Given the description of an element on the screen output the (x, y) to click on. 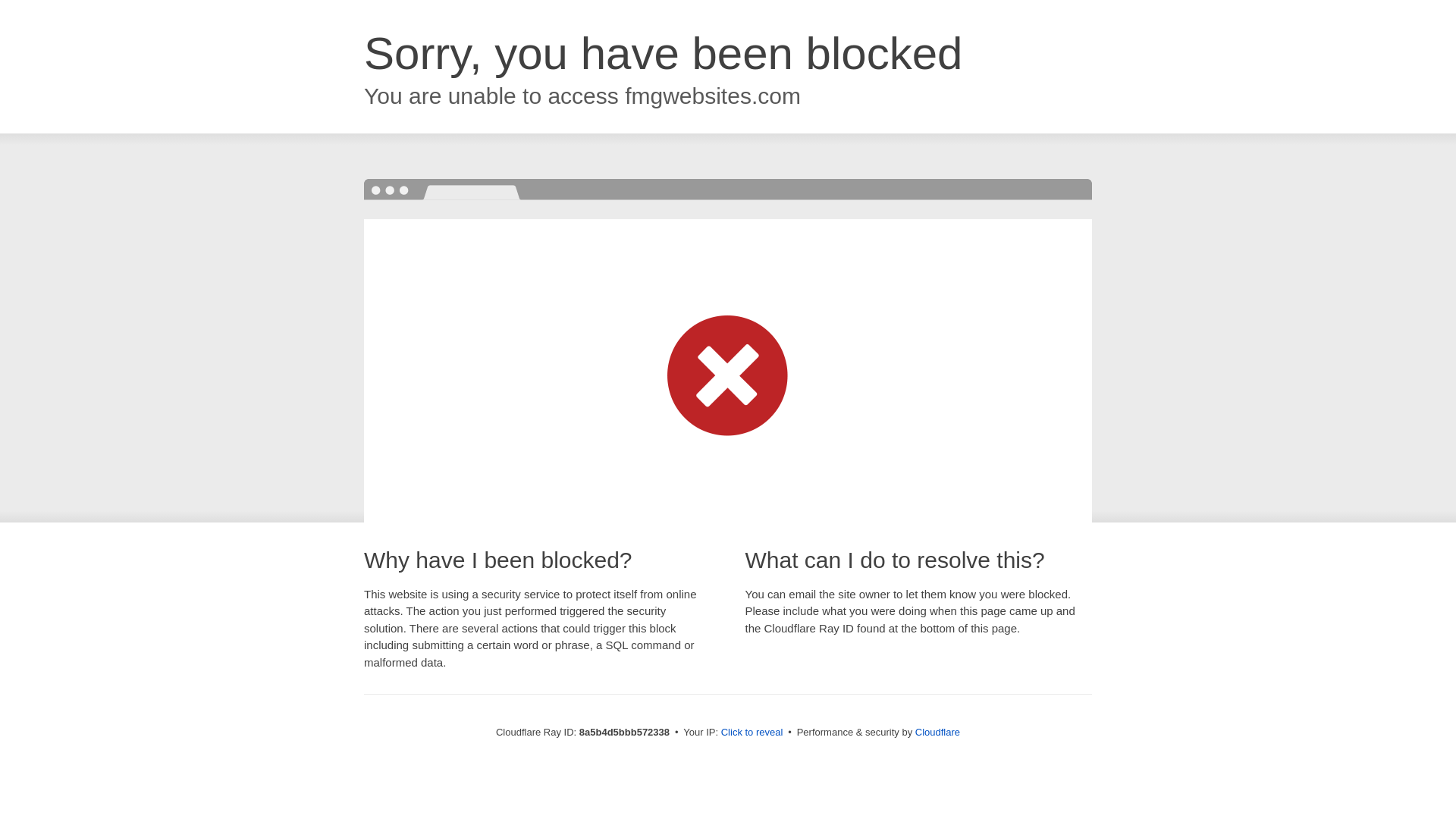
Cloudflare (937, 731)
Click to reveal (751, 732)
